Given the description of an element on the screen output the (x, y) to click on. 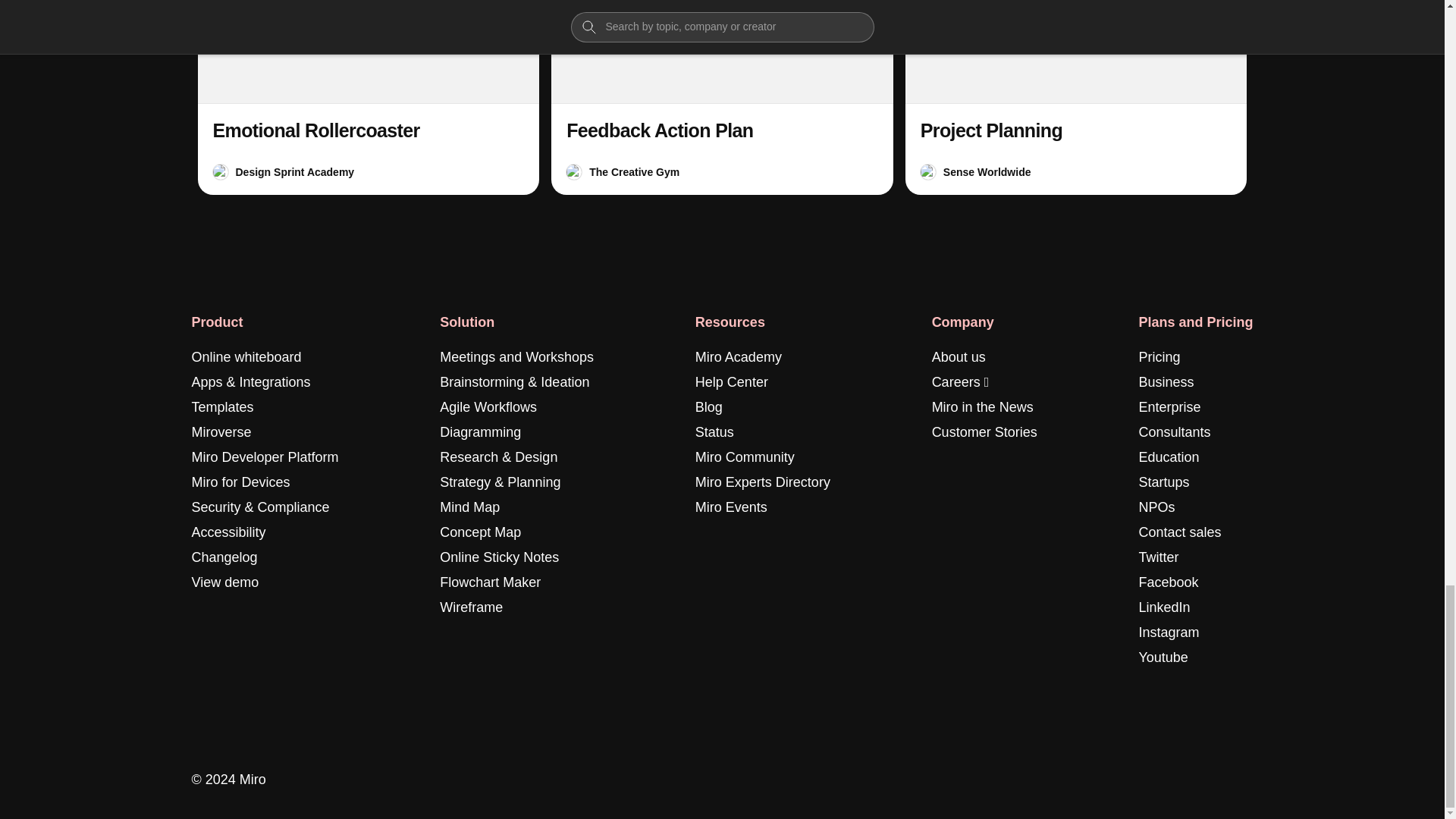
Project Planning (991, 129)
Design Sprint Academy (293, 171)
Sense Worldwide (986, 171)
Feedback Action Plan (722, 97)
Miroverse (220, 432)
Templates (221, 407)
The Creative Gym (634, 171)
Project Planning (1076, 97)
Emotional Rollercoaster (315, 129)
Emotional Rollercoaster (367, 97)
Feedback Action Plan (659, 129)
Online whiteboard (245, 357)
